Given the description of an element on the screen output the (x, y) to click on. 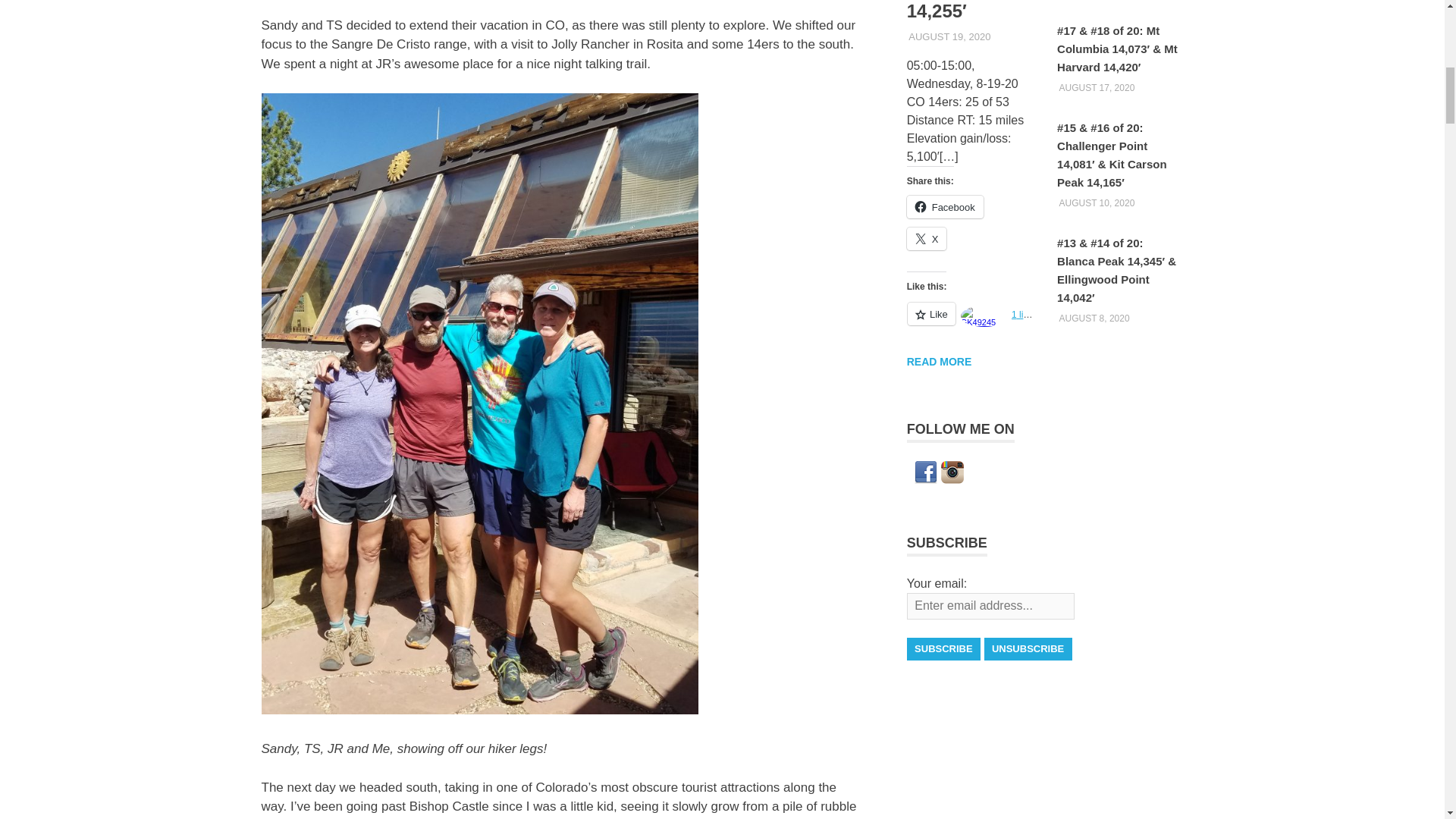
Click to share on X (927, 238)
Like or Reblog (969, 322)
20:20 (949, 36)
Enter email address... (990, 605)
20:20 (1093, 317)
20:20 (1096, 87)
Subscribe (943, 649)
Click to share on Facebook (945, 206)
View all posts by kaulua26 (1015, 36)
20:20 (1096, 203)
Unsubscribe (1027, 649)
